Given the description of an element on the screen output the (x, y) to click on. 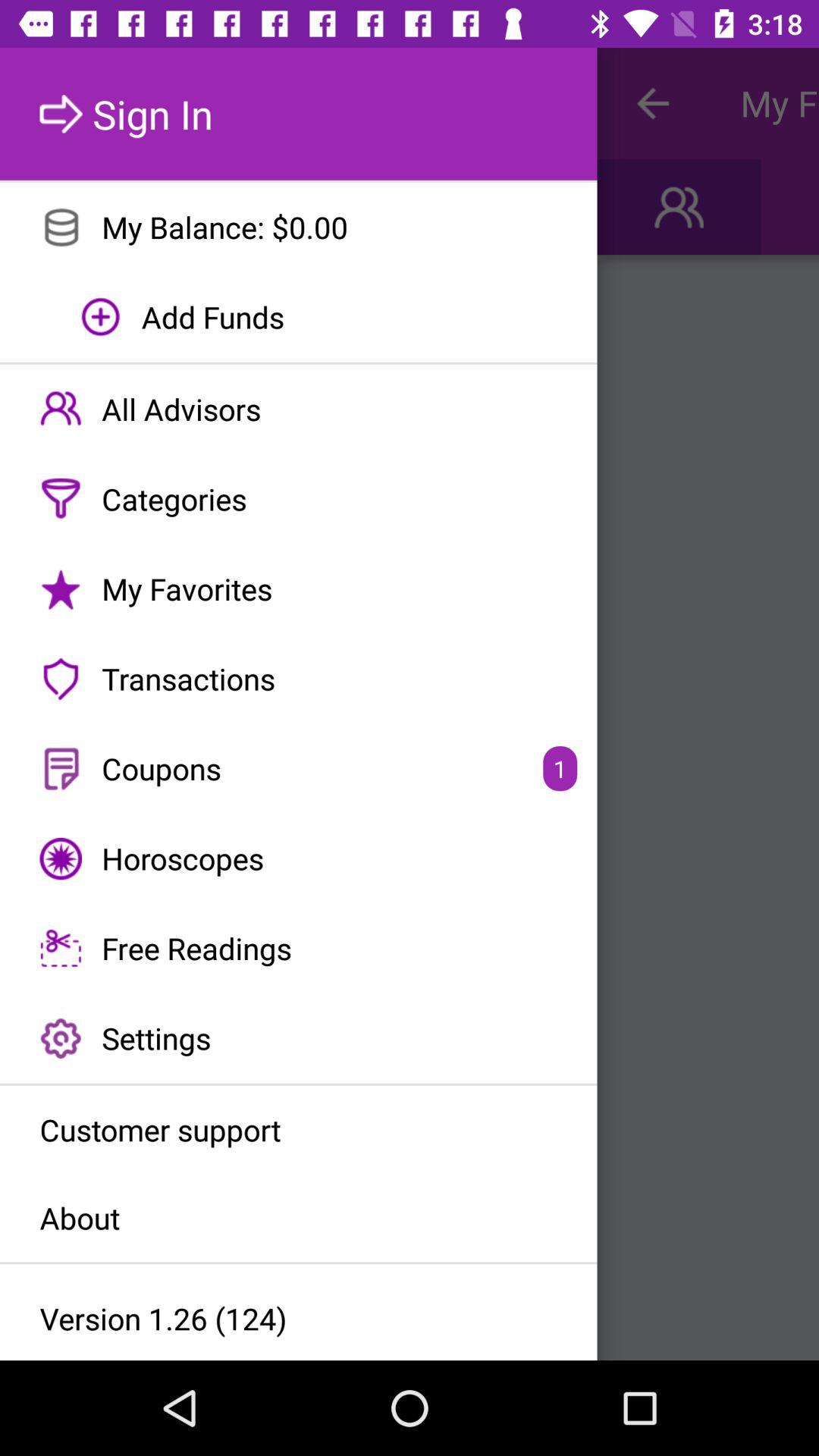
turn on the free readings (298, 948)
